Given the description of an element on the screen output the (x, y) to click on. 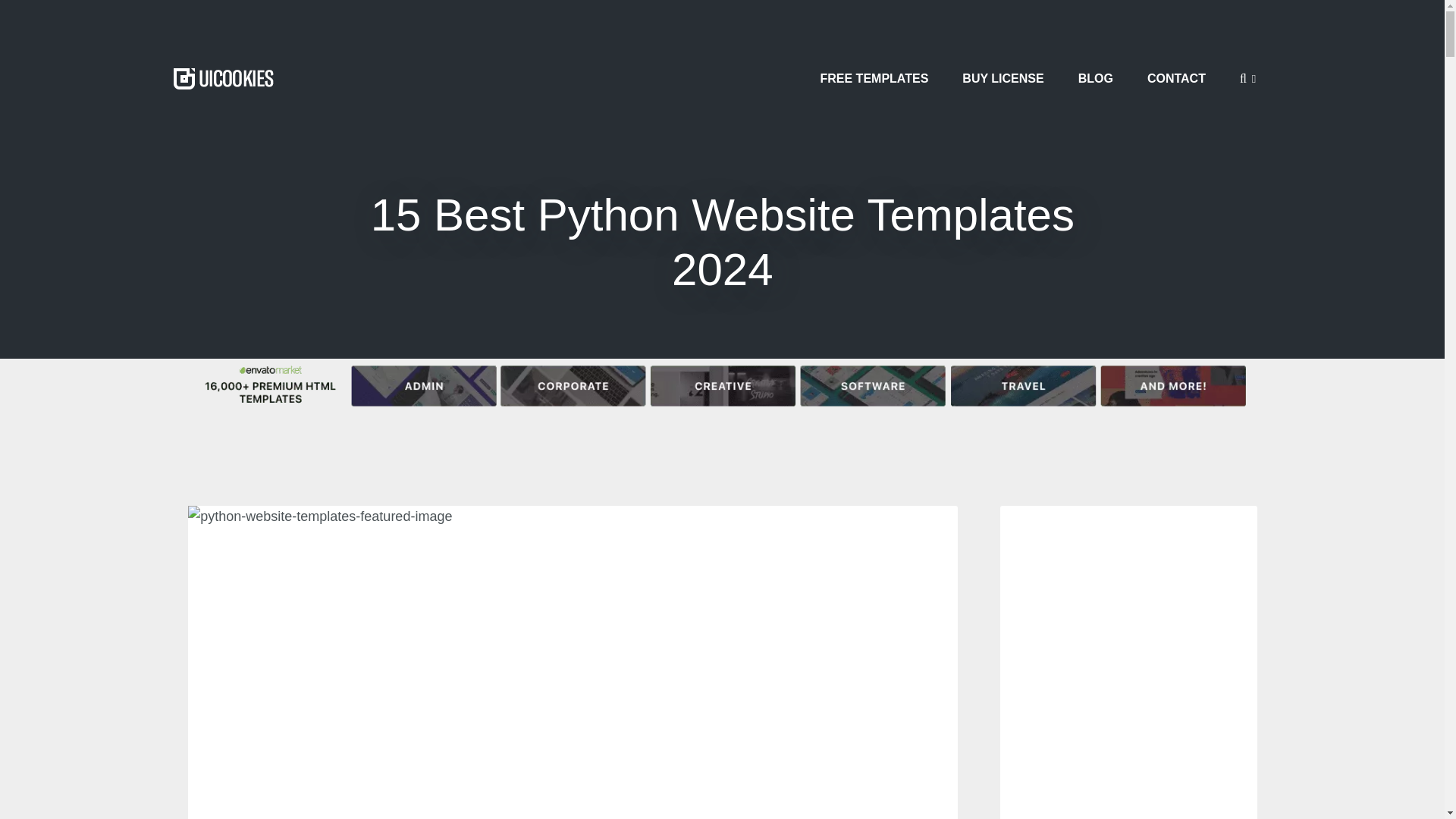
Search (1363, 115)
BUY LICENSE (1002, 78)
CONTACT (1176, 78)
FREE TEMPLATES (874, 78)
BLOG (1095, 78)
